Given the description of an element on the screen output the (x, y) to click on. 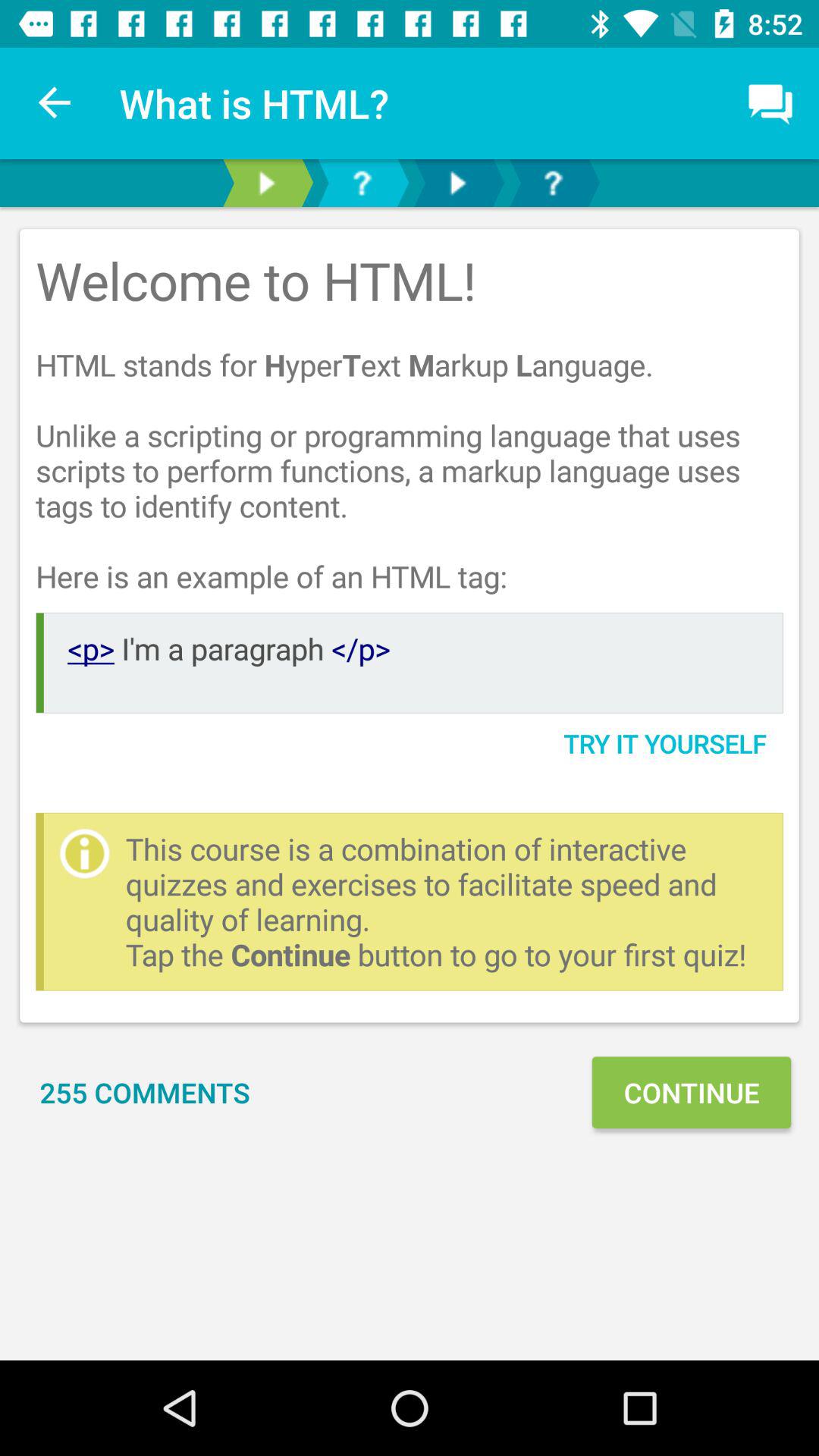
quiz (552, 183)
